Given the description of an element on the screen output the (x, y) to click on. 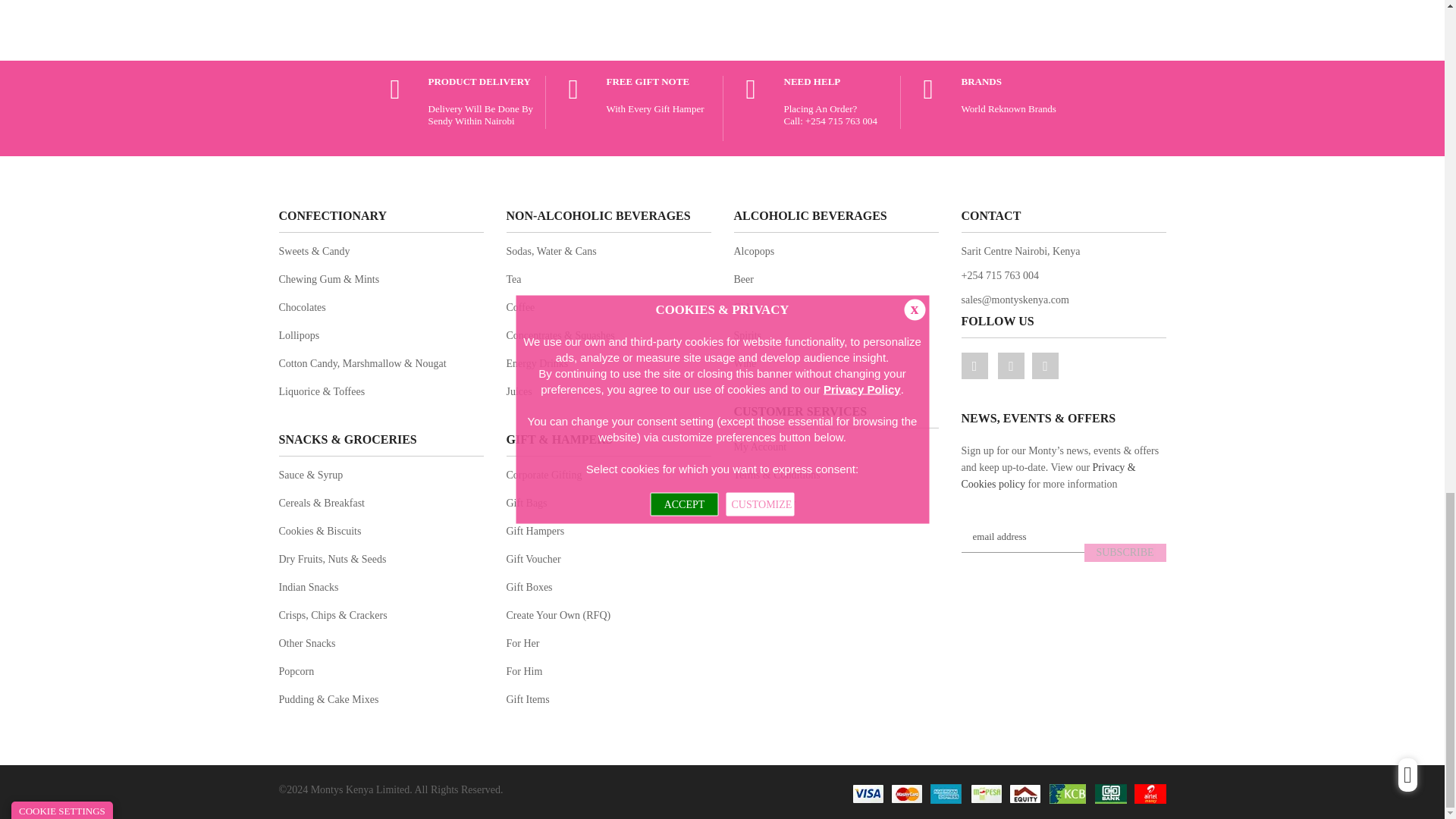
Subscribe (1125, 552)
